Given the description of an element on the screen output the (x, y) to click on. 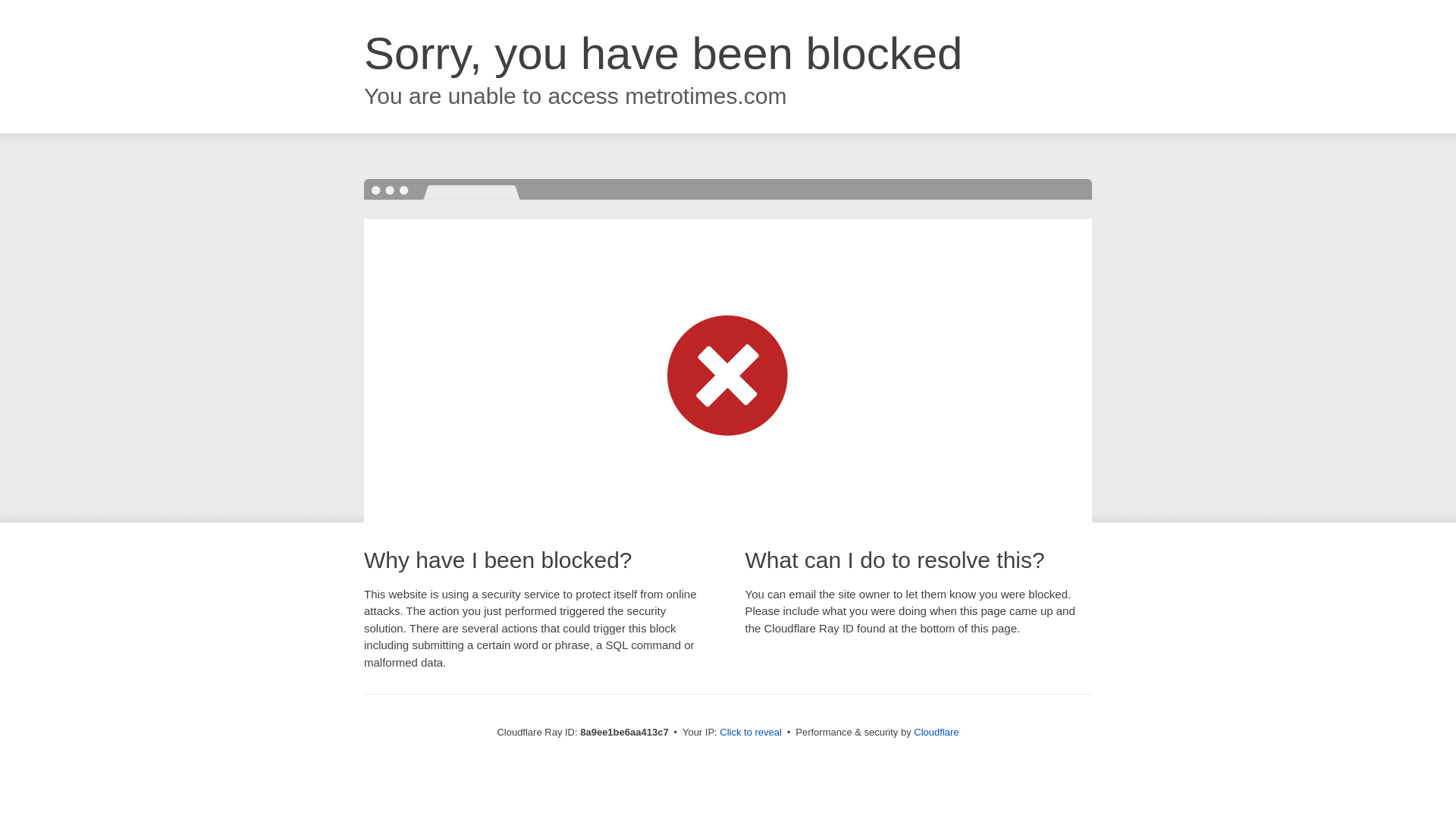
Cloudflare (936, 731)
Click to reveal (750, 732)
